Given the description of an element on the screen output the (x, y) to click on. 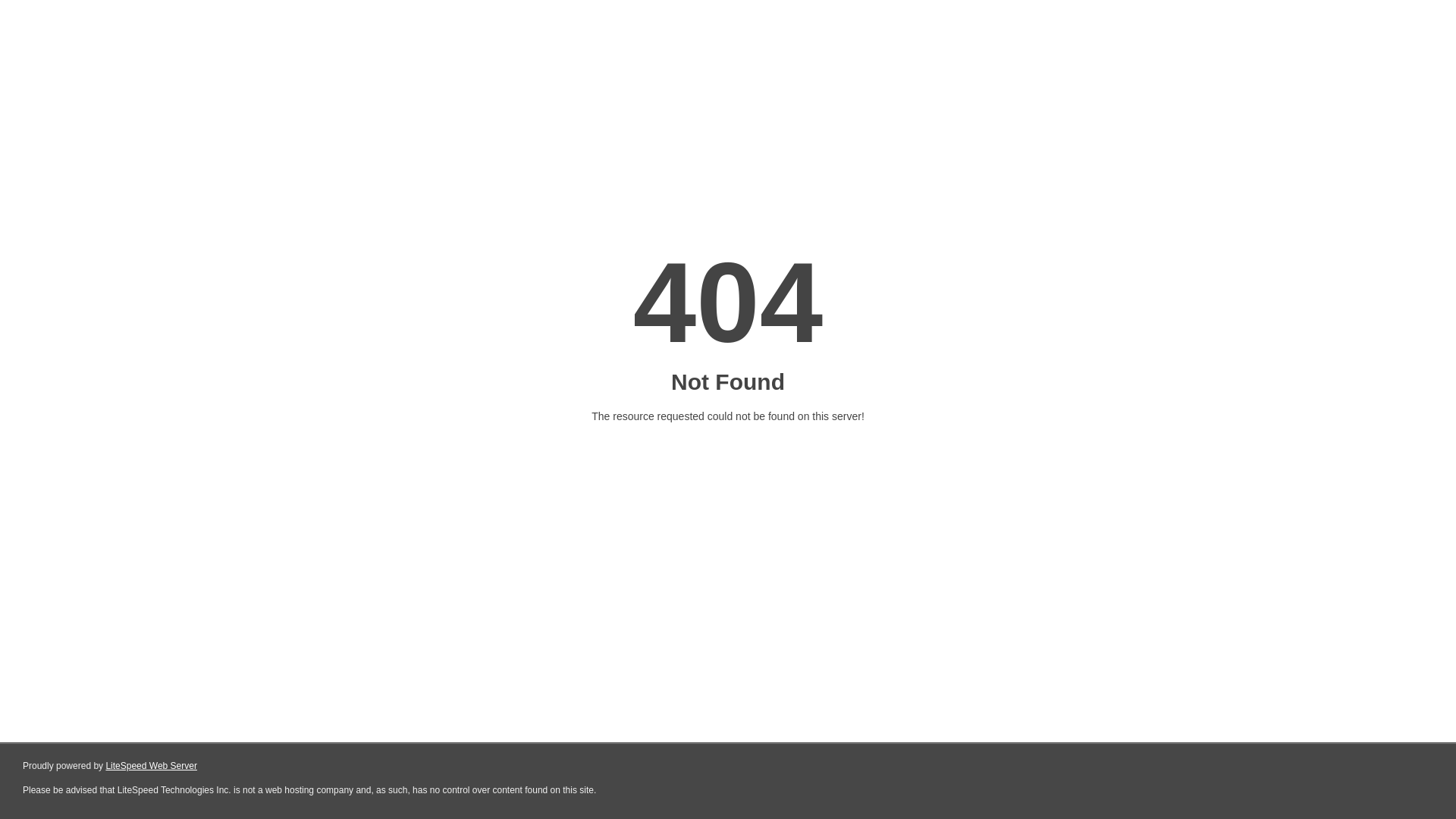
LiteSpeed Web Server Element type: text (151, 765)
